Given the description of an element on the screen output the (x, y) to click on. 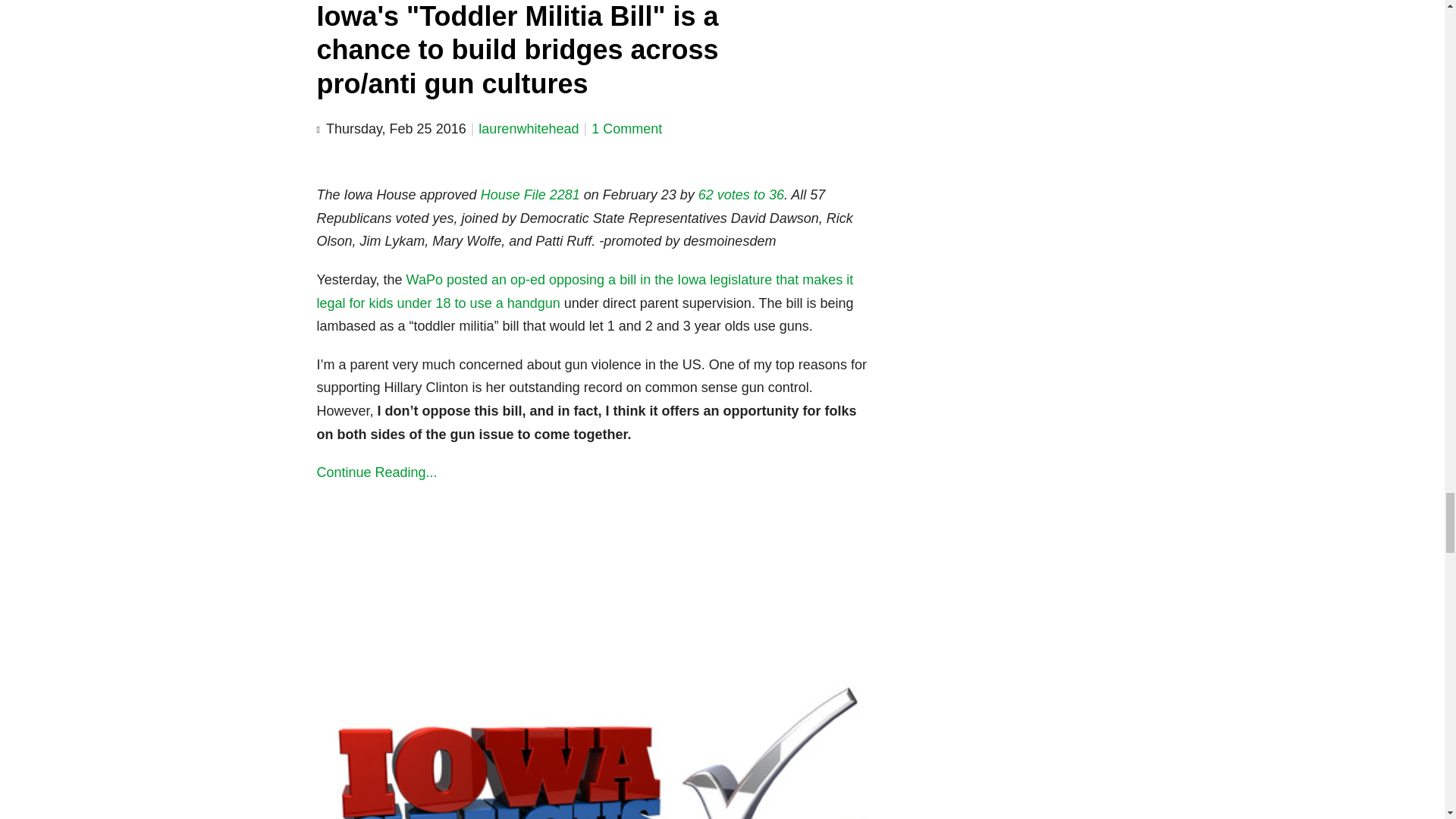
comments (626, 128)
